Given the description of an element on the screen output the (x, y) to click on. 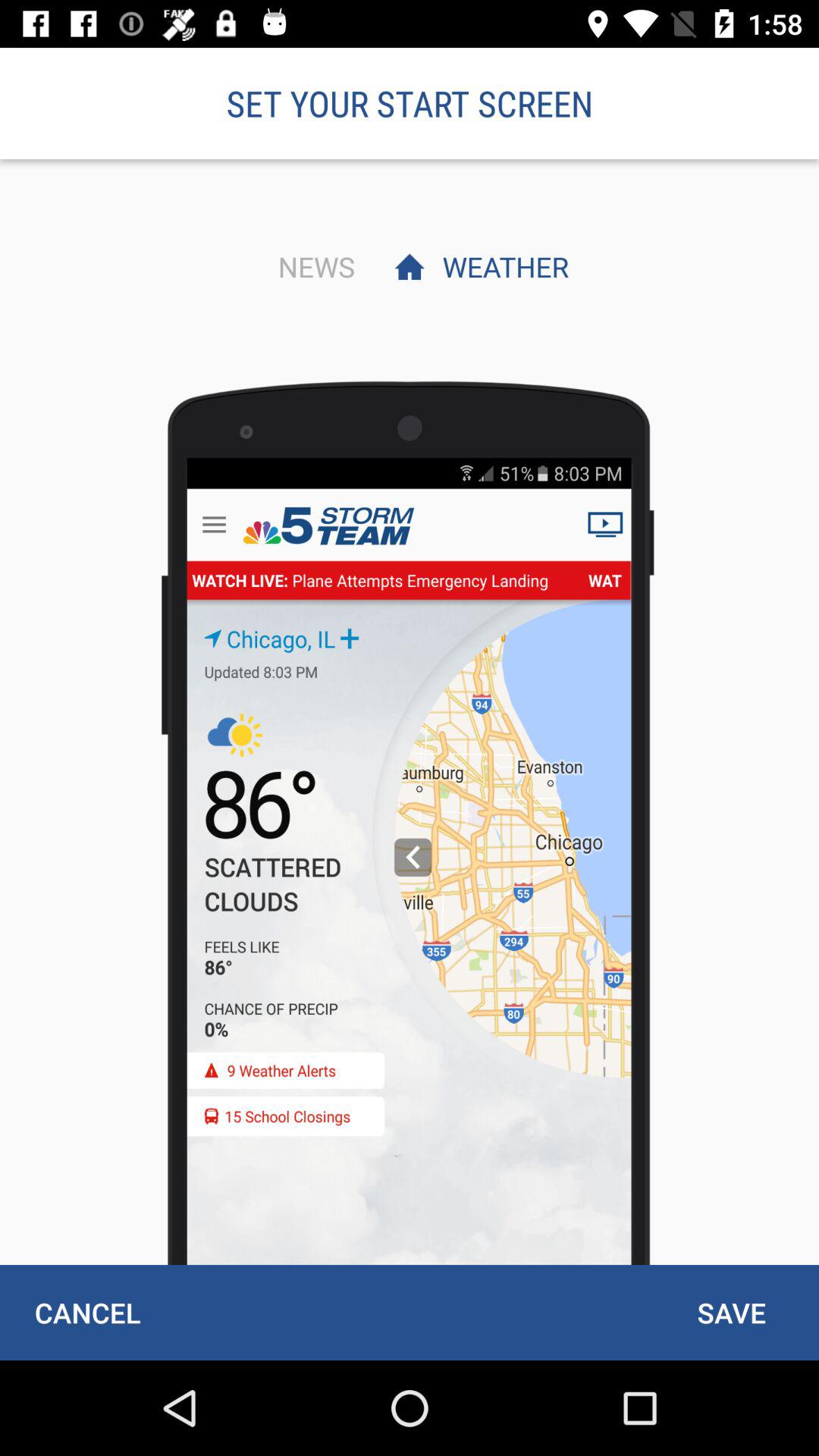
click cancel item (87, 1312)
